Given the description of an element on the screen output the (x, y) to click on. 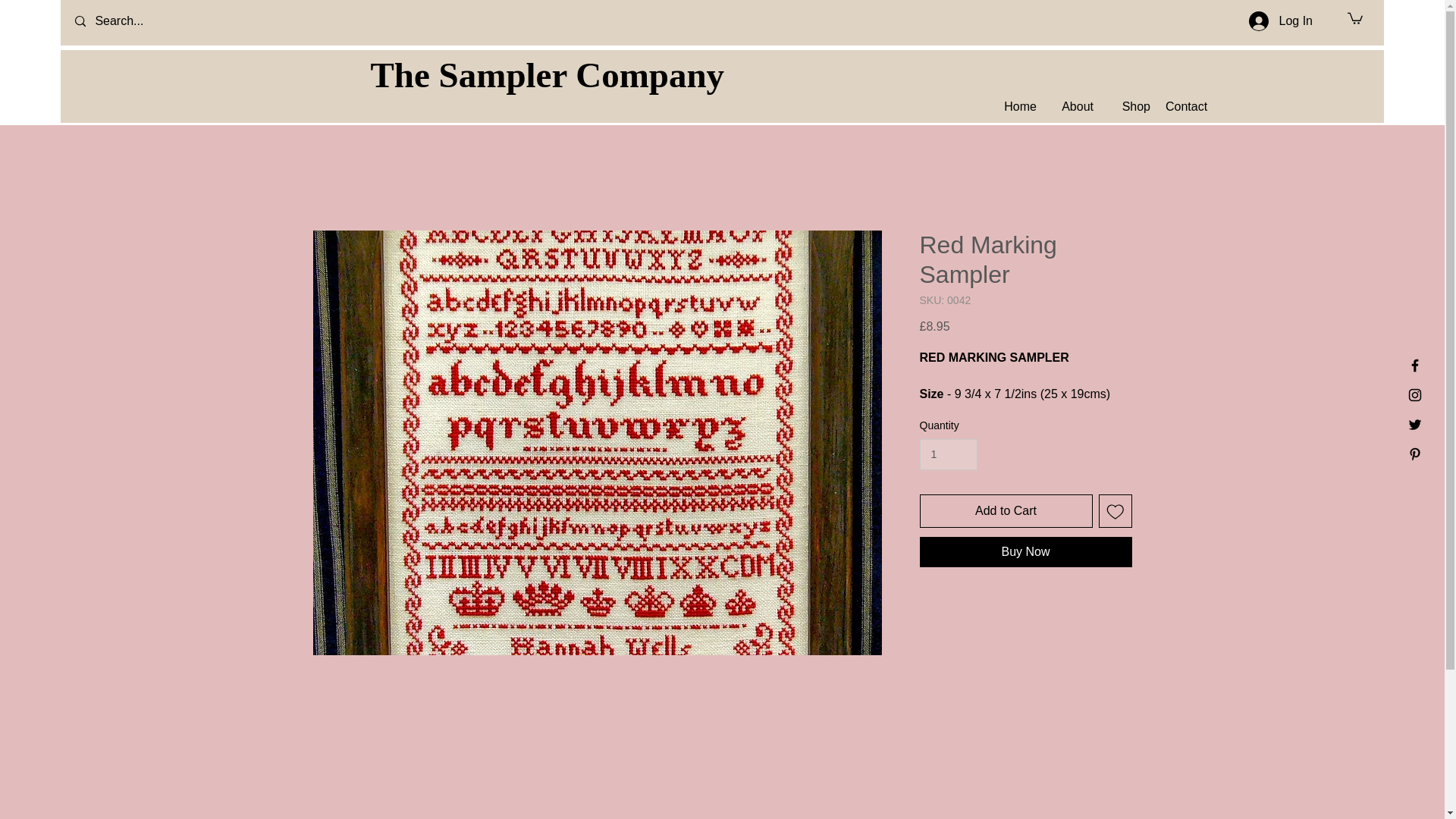
Add to Cart (1005, 510)
Buy Now (1024, 552)
Contact (1185, 106)
1 (947, 454)
Shop (1128, 106)
Log In (1281, 21)
Home (1015, 106)
About (1071, 106)
